Given the description of an element on the screen output the (x, y) to click on. 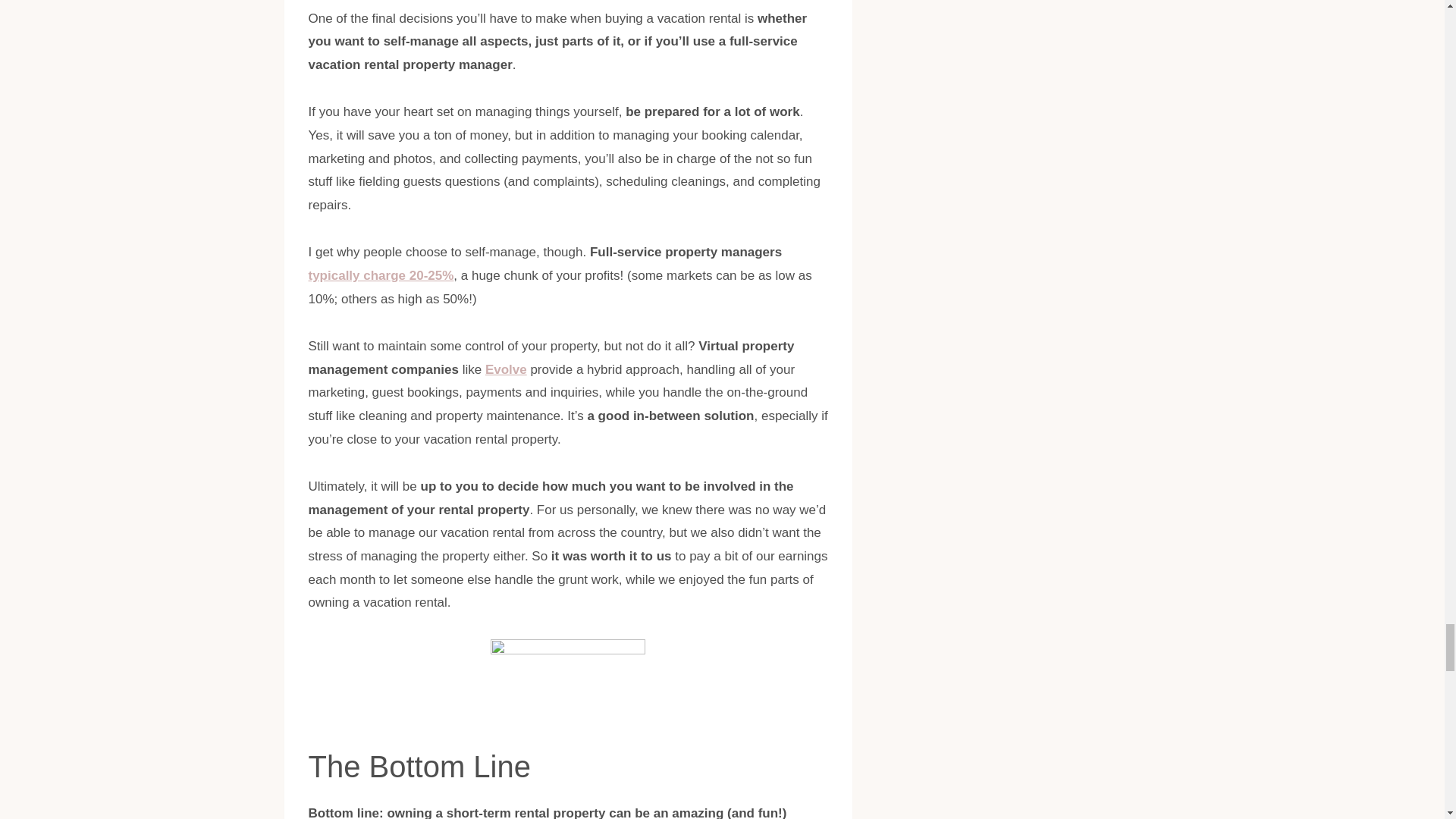
Evolve (505, 369)
